Given the description of an element on the screen output the (x, y) to click on. 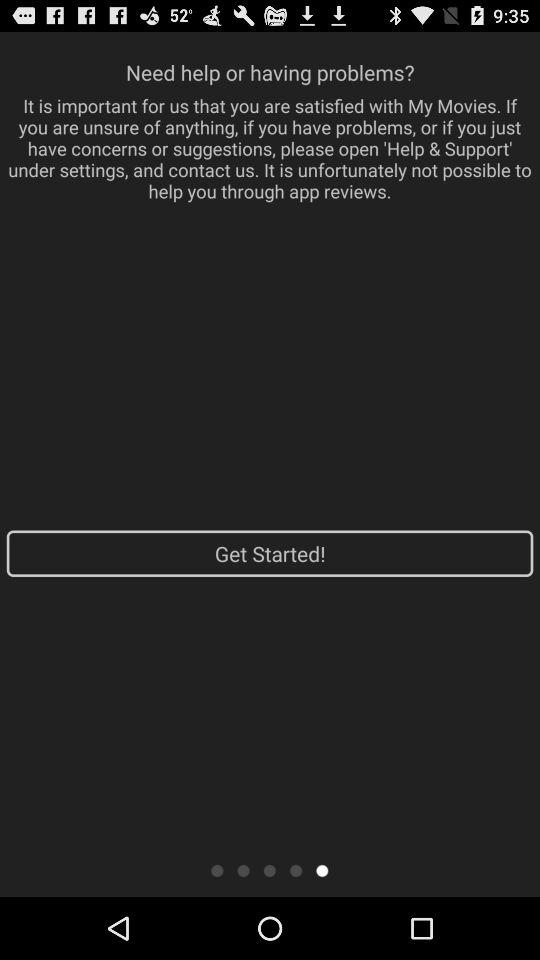
slide button (269, 870)
